Given the description of an element on the screen output the (x, y) to click on. 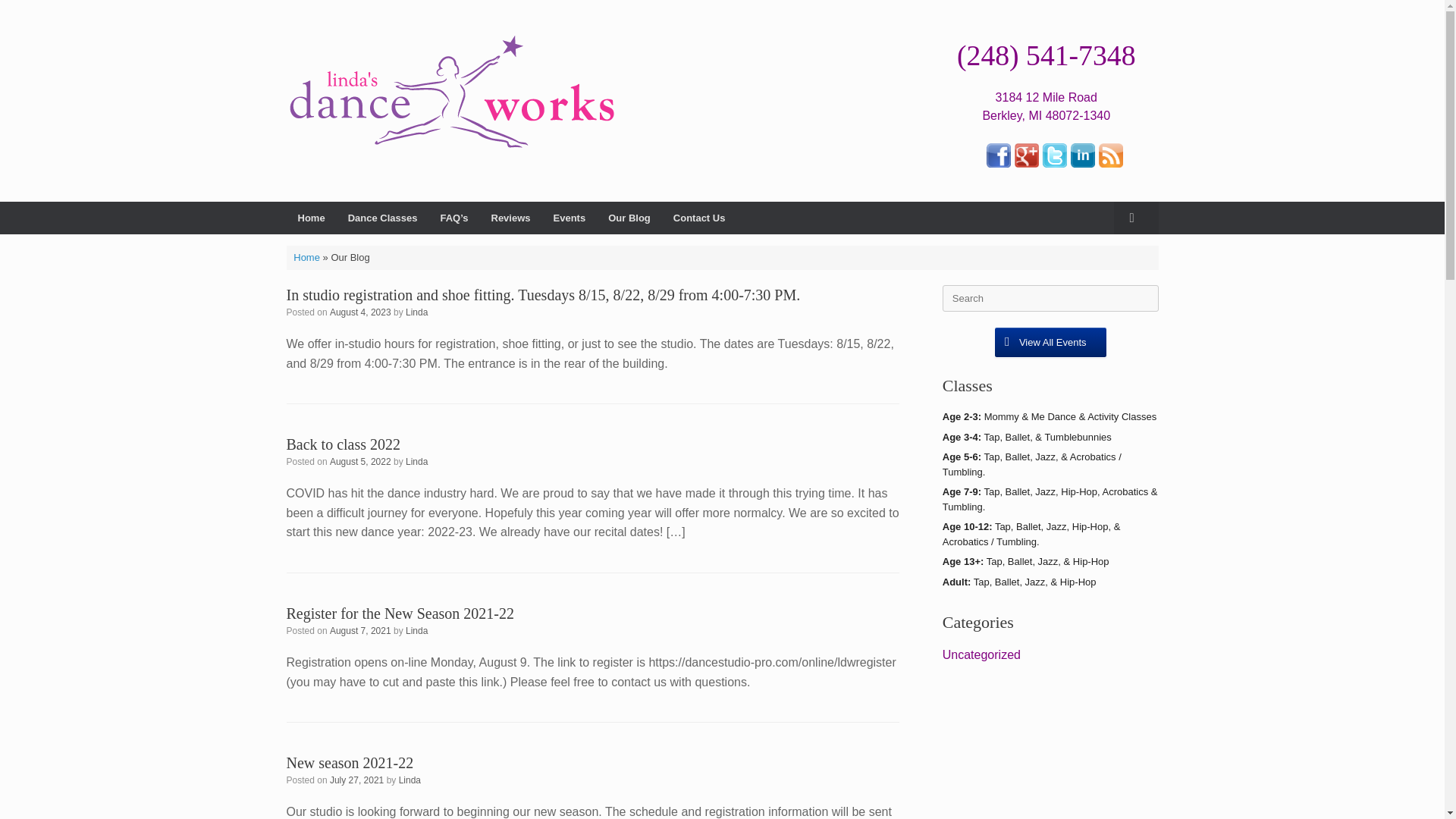
View all posts by Linda (417, 461)
Home (307, 256)
August 7, 2021 (360, 630)
Linda (417, 461)
Our Blog (629, 217)
10:33 am (360, 630)
Linda (417, 630)
August 4, 2023 (360, 312)
Register for the New Season 2021-22 (400, 613)
Linda (409, 779)
5:54 pm (360, 312)
Permalink to Back to class 2022 (343, 443)
August 5, 2022 (360, 461)
2:21 pm (357, 779)
View all posts by Linda (417, 630)
